Given the description of an element on the screen output the (x, y) to click on. 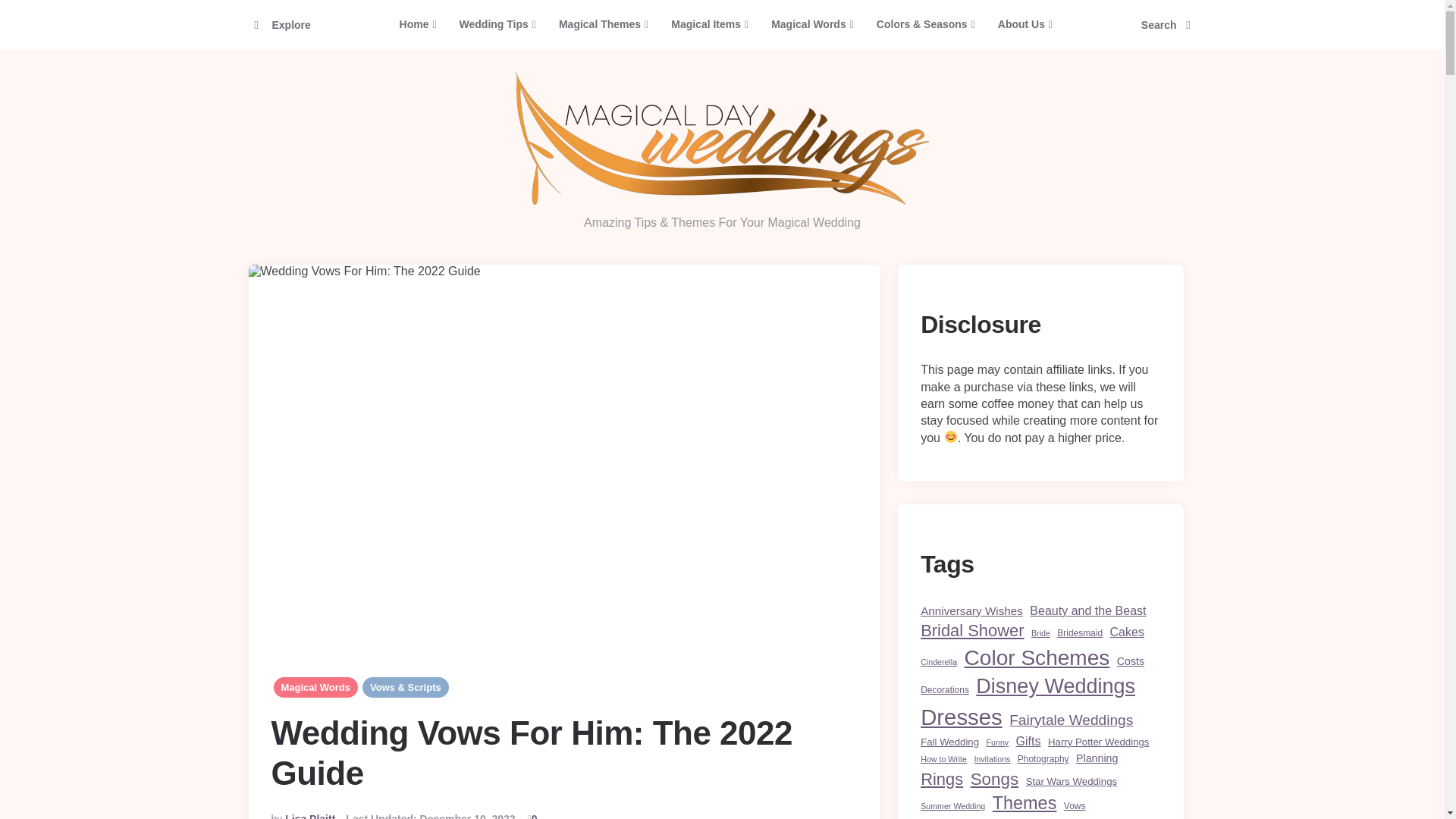
Home (418, 24)
Magical Words (812, 24)
About Us (1025, 24)
Magical Items (709, 24)
Wedding Tips (497, 24)
Magical Themes (603, 24)
